Given the description of an element on the screen output the (x, y) to click on. 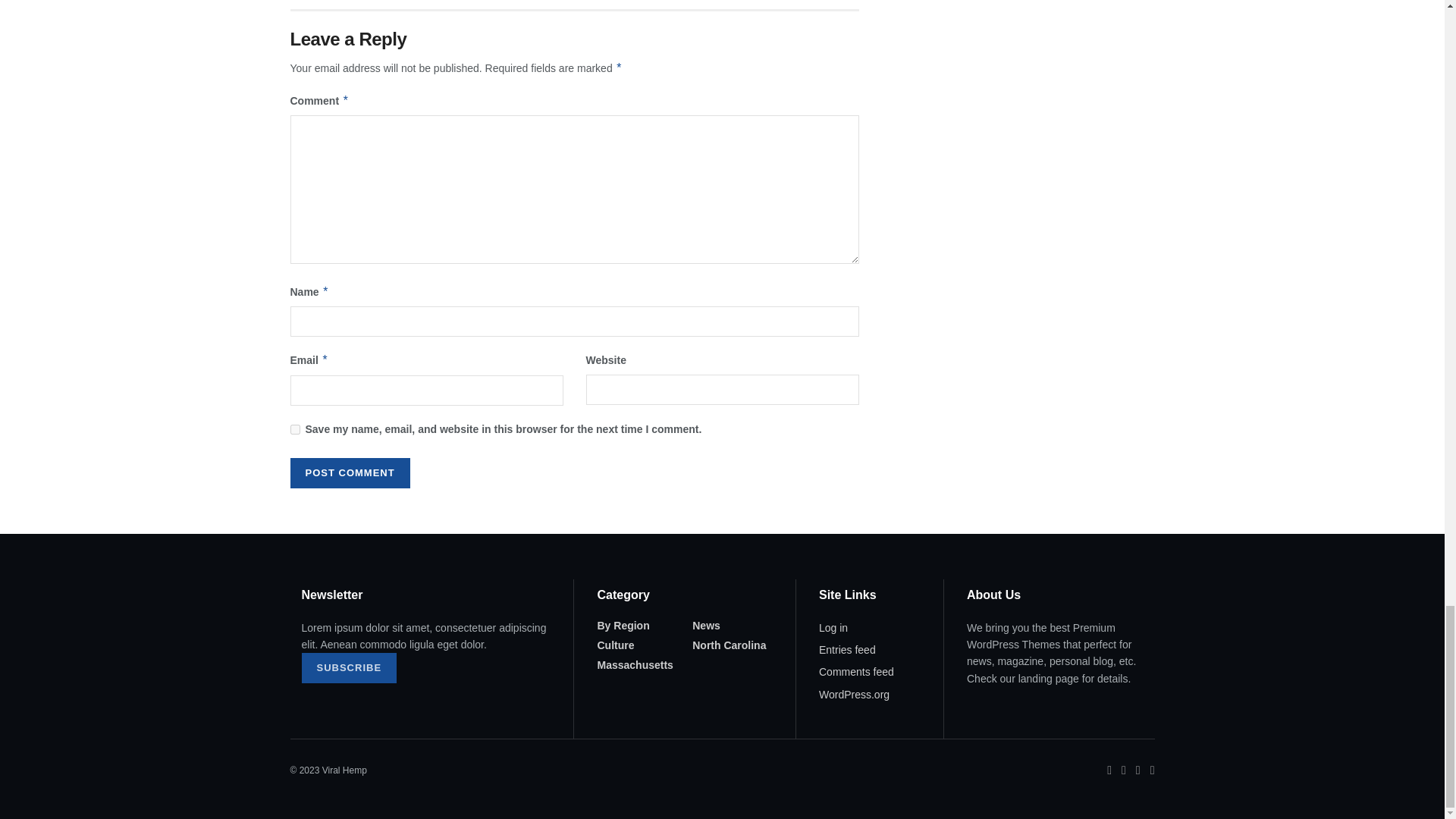
Post Comment (349, 472)
yes (294, 429)
